Given the description of an element on the screen output the (x, y) to click on. 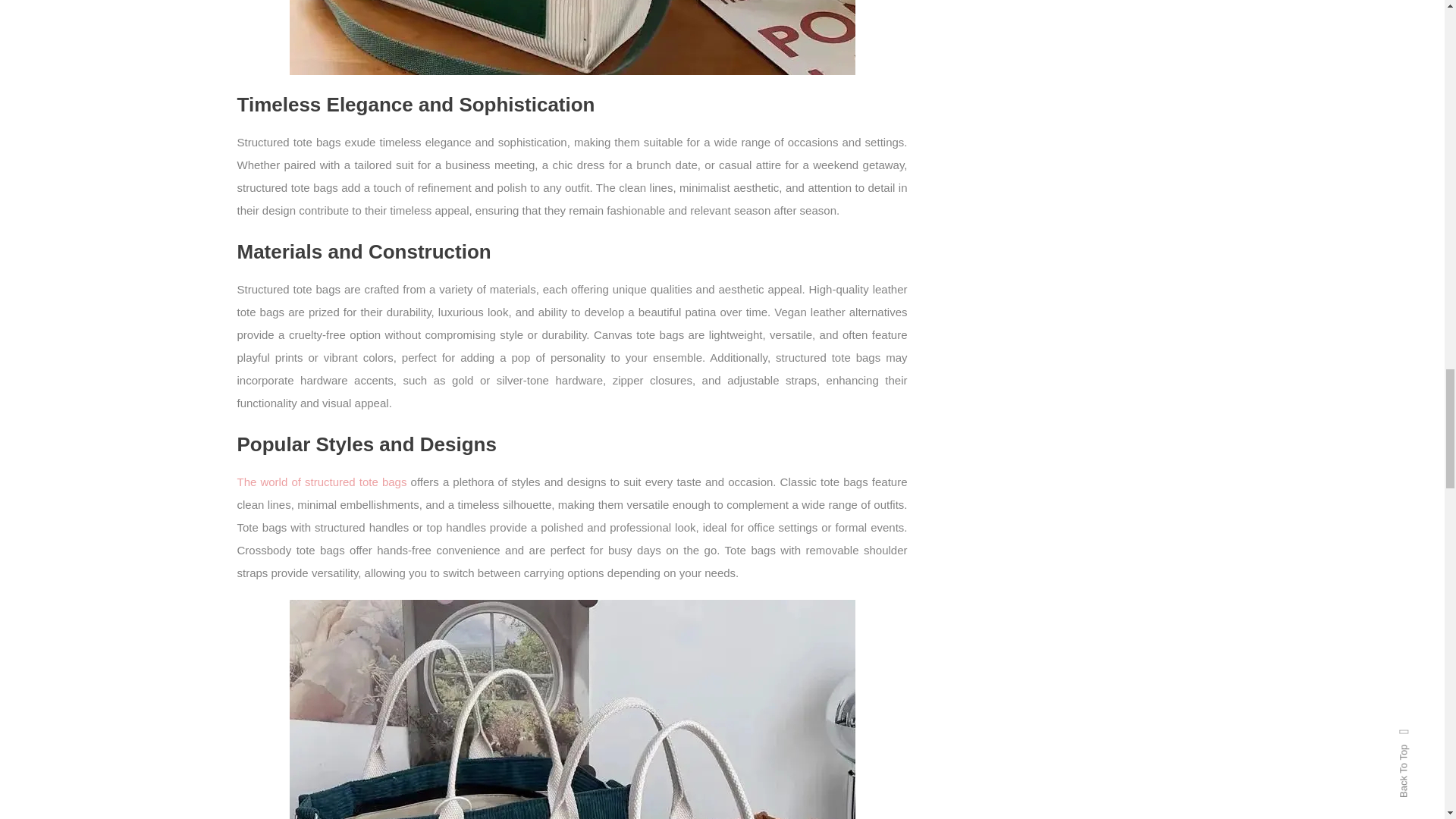
The world of structured tote bags (320, 481)
